Given the description of an element on the screen output the (x, y) to click on. 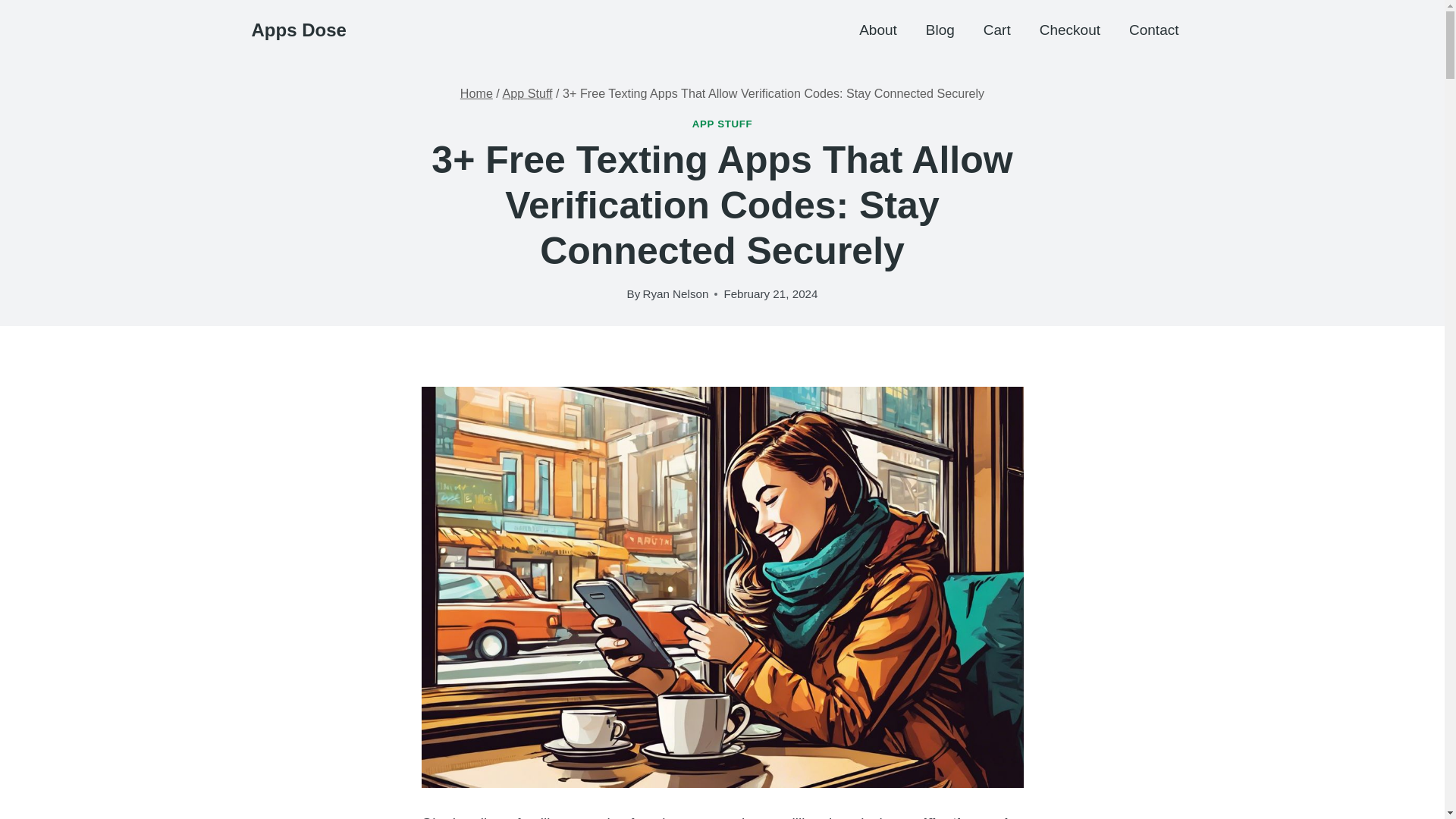
Apps Dose (298, 30)
APP STUFF (722, 123)
Blog (940, 29)
App Stuff (526, 92)
Cart (997, 29)
About (877, 29)
Home (476, 92)
Checkout (1070, 29)
Ryan Nelson (674, 293)
Contact (1153, 29)
